Given the description of an element on the screen output the (x, y) to click on. 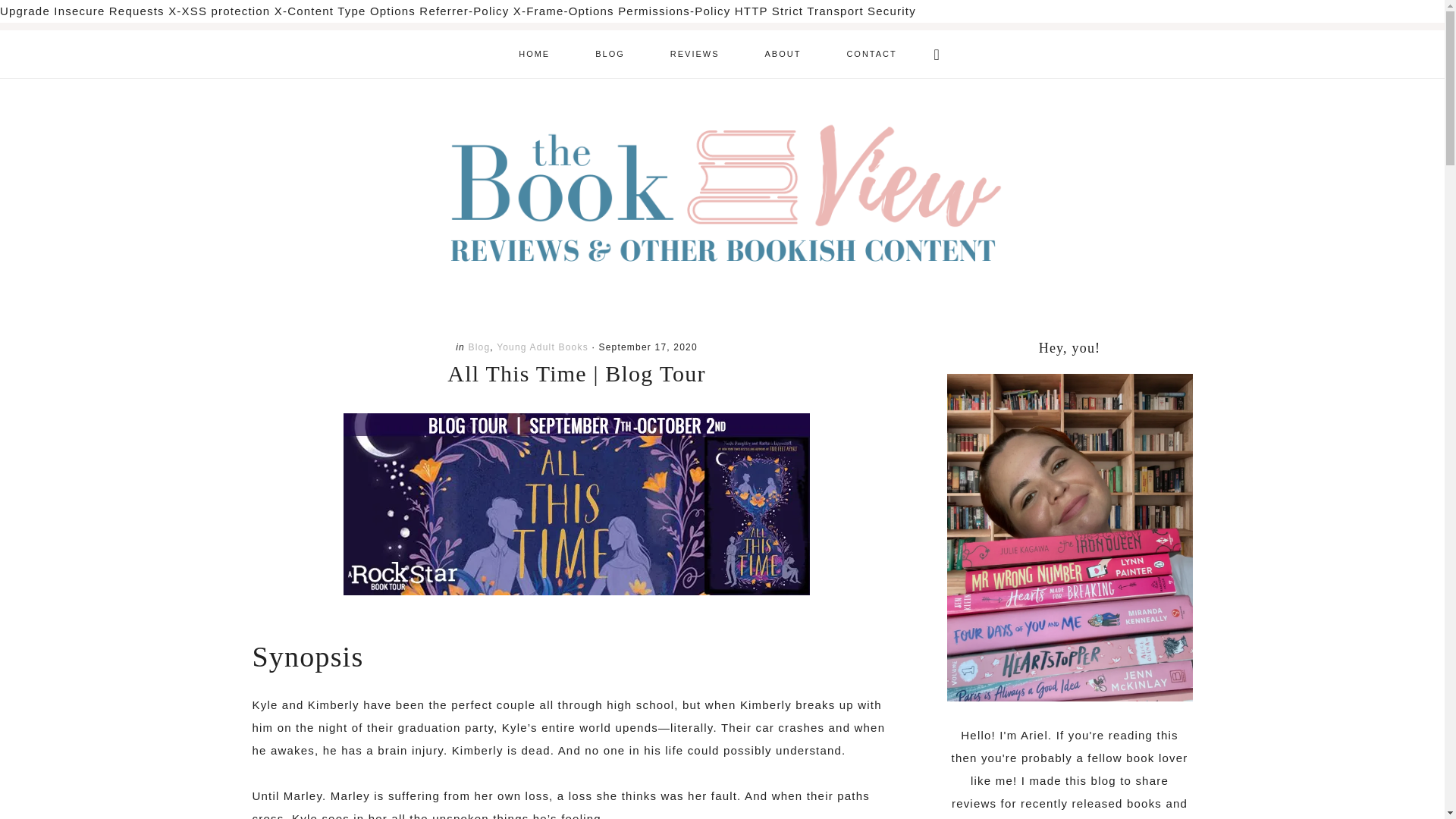
ABOUT (783, 53)
CONTACT (871, 53)
Young Adult Books (542, 347)
Blog (478, 347)
BLOG (609, 53)
